Given the description of an element on the screen output the (x, y) to click on. 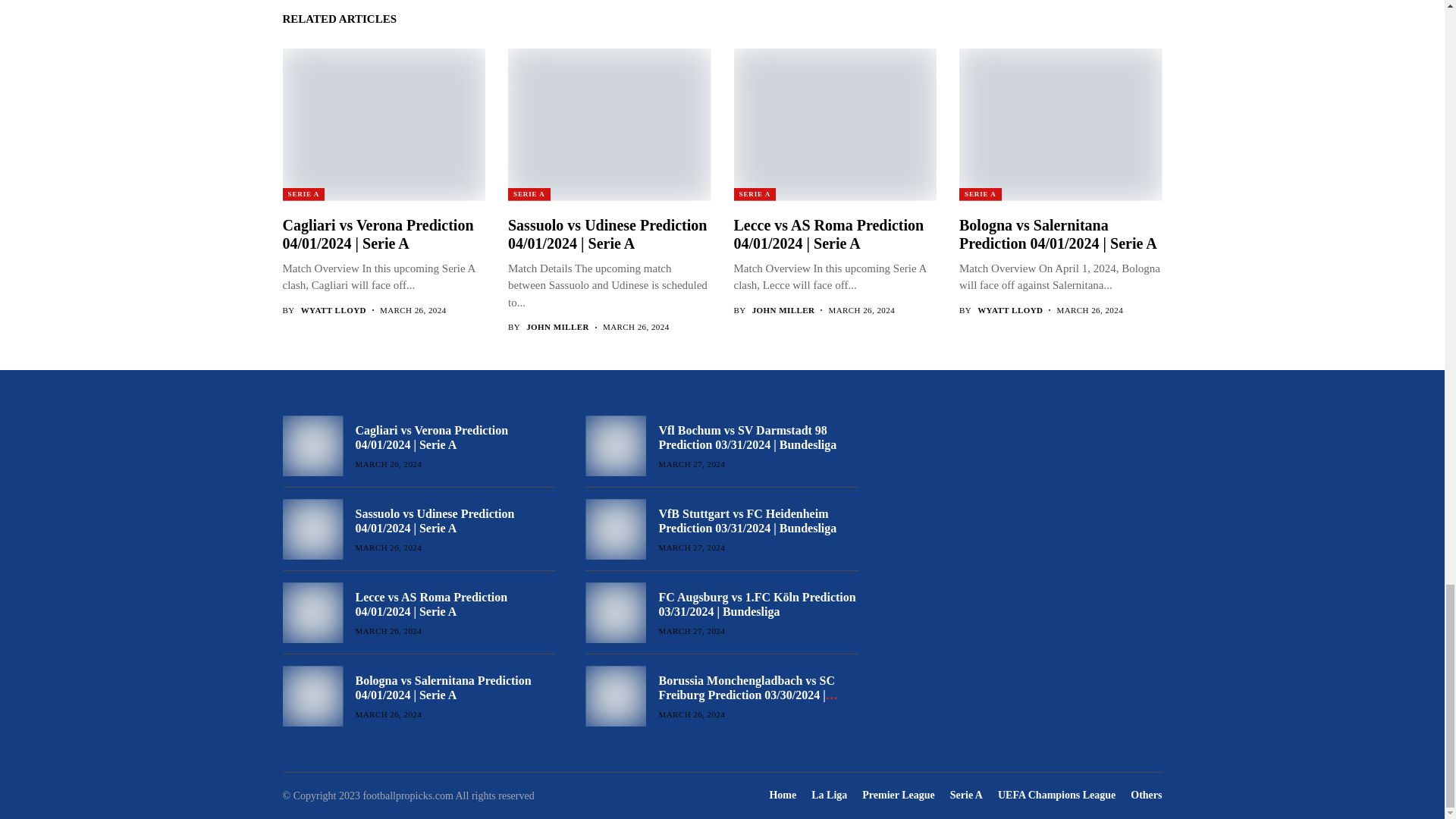
Posts by Wyatt Lloyd (1009, 310)
Posts by John Miller (557, 327)
Posts by John Miller (783, 310)
Posts by Wyatt Lloyd (333, 310)
